Given the description of an element on the screen output the (x, y) to click on. 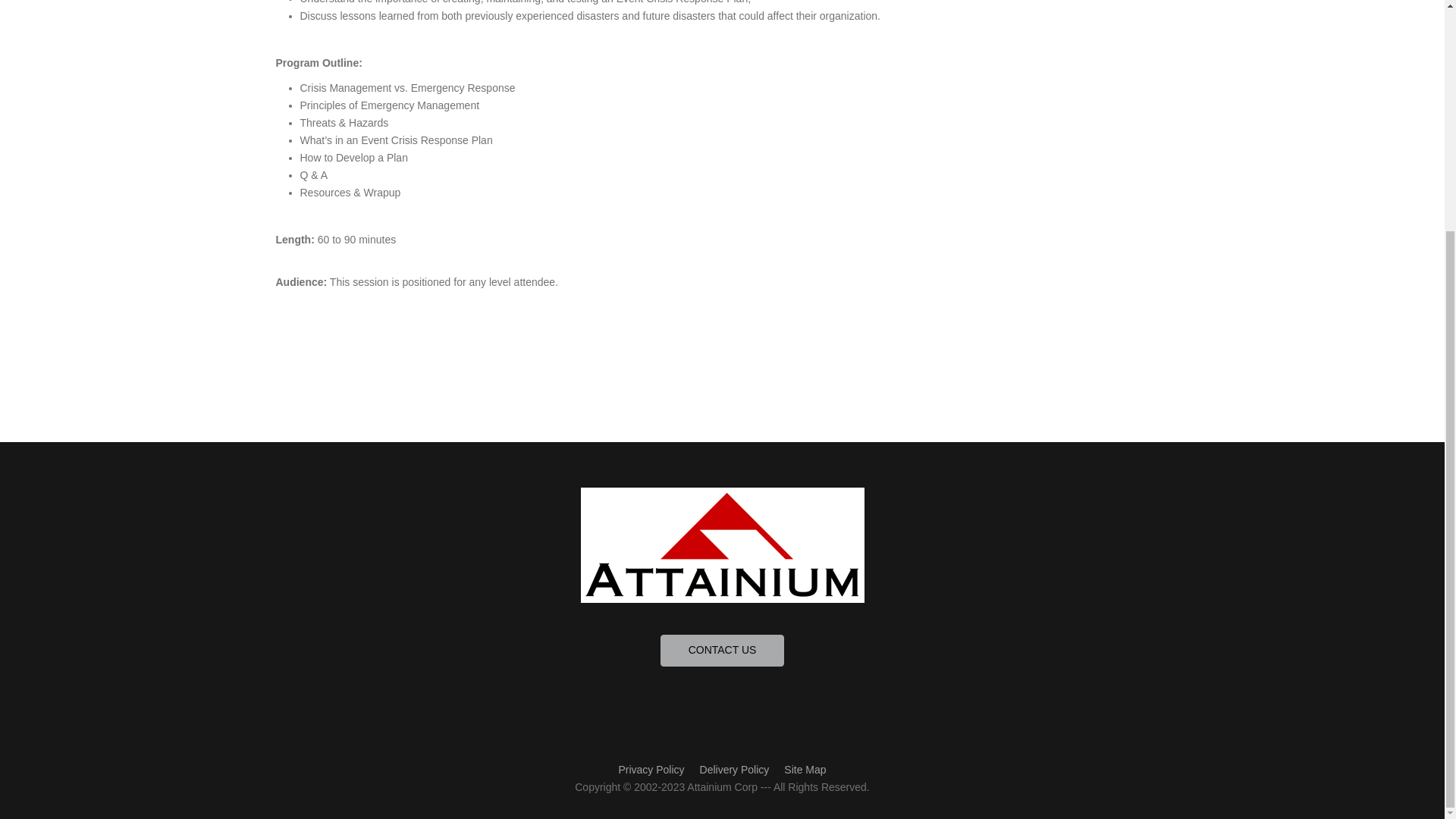
Twitter (727, 739)
Bob on Business Continuity (739, 739)
Facebook (716, 739)
